Given the description of an element on the screen output the (x, y) to click on. 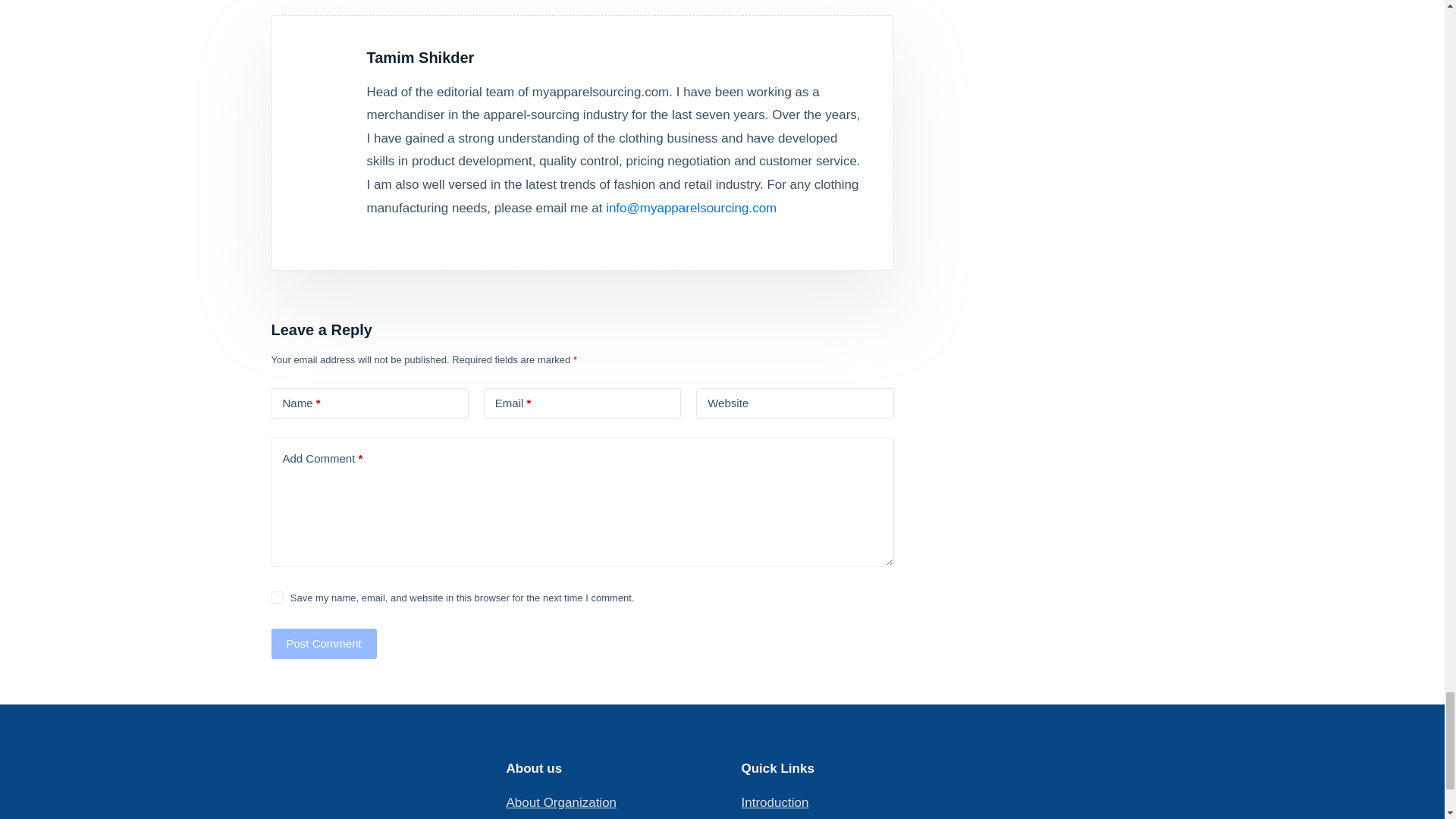
Post Comment (323, 643)
yes (276, 597)
About Organization (561, 802)
